Given the description of an element on the screen output the (x, y) to click on. 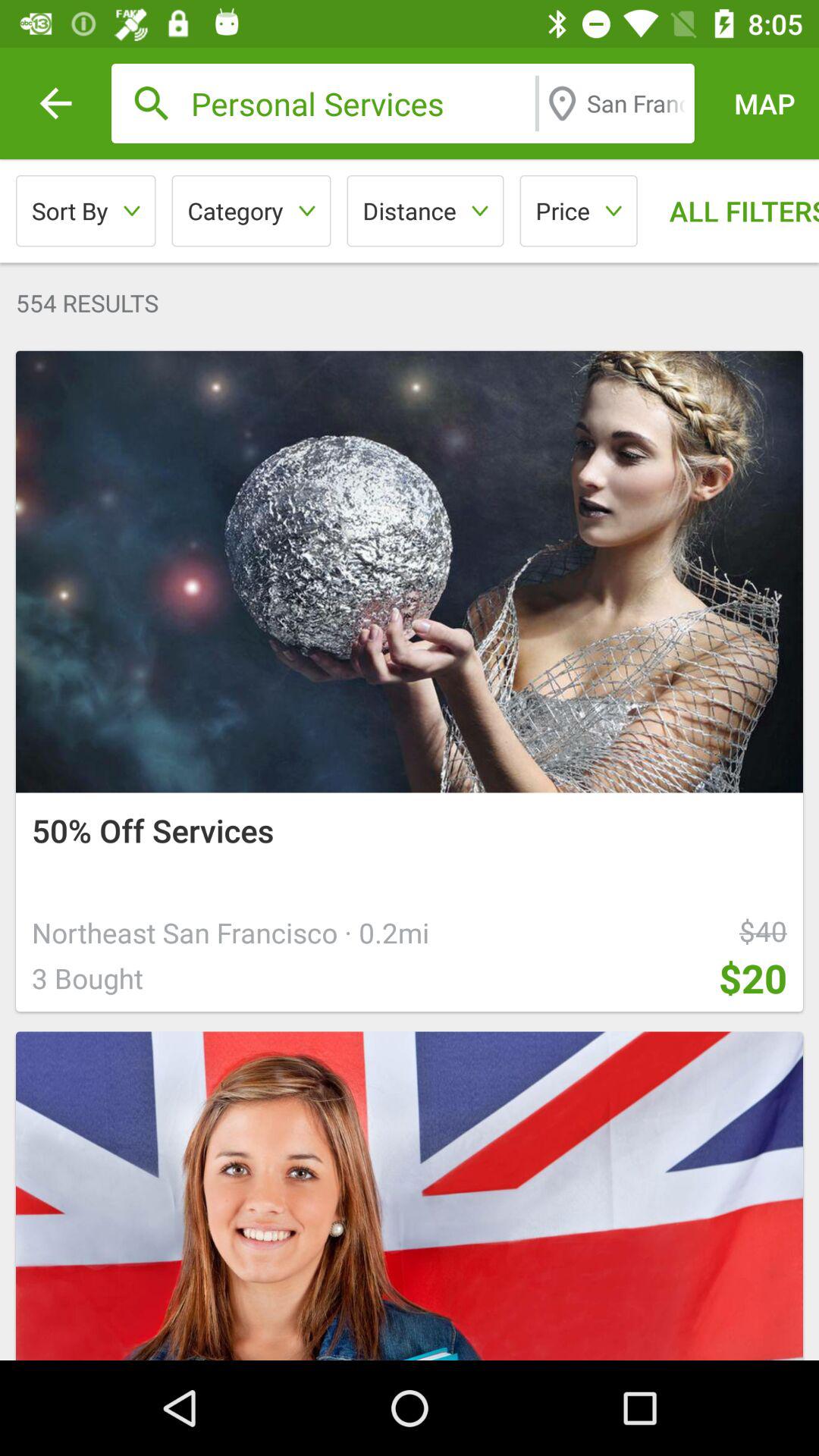
launch sort by (85, 210)
